Given the description of an element on the screen output the (x, y) to click on. 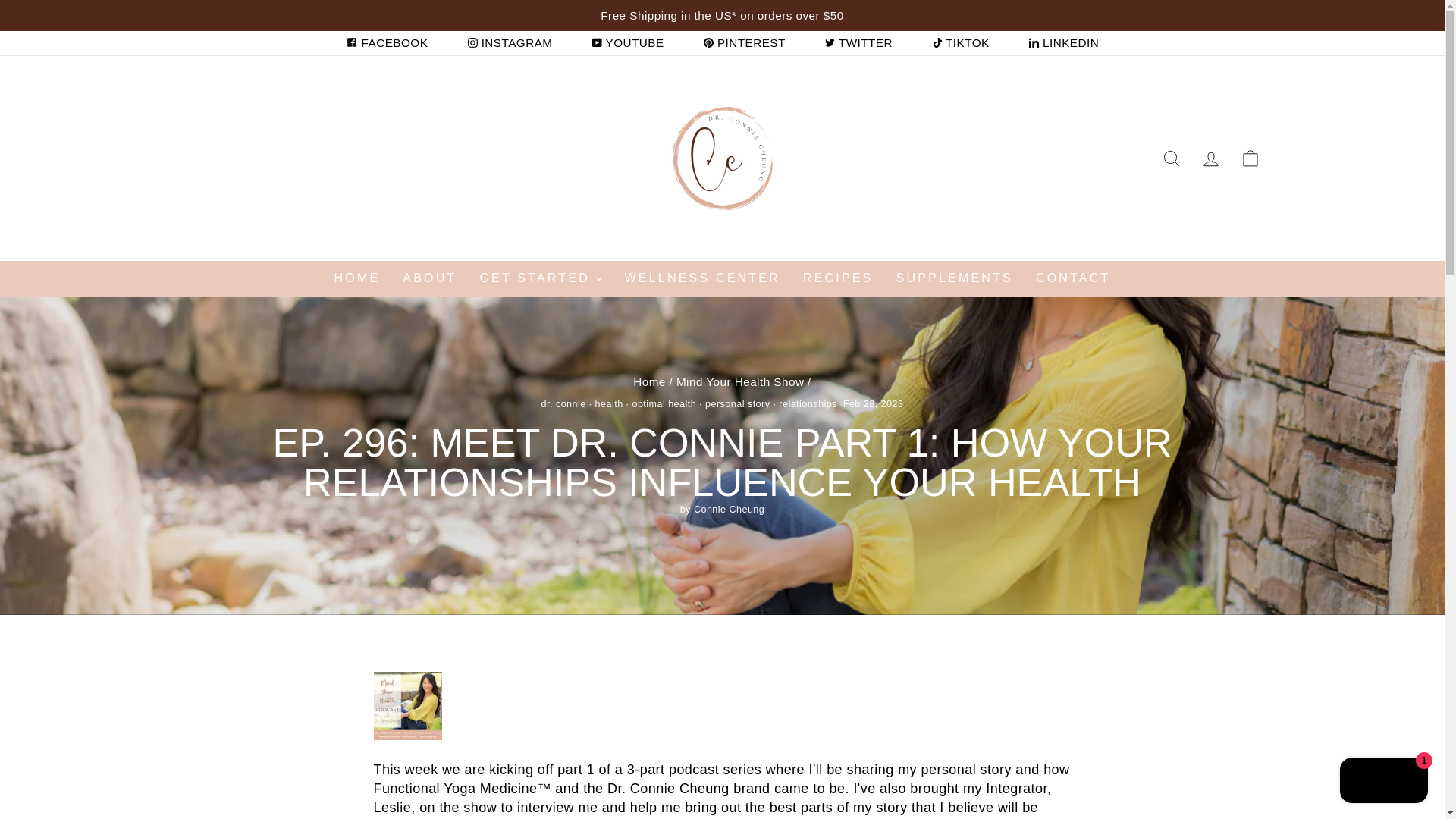
SEARCH (1171, 157)
Libsyn Player (721, 705)
FACEBOOK (386, 42)
TIKTOK (960, 42)
HOME (357, 278)
TWITTER (858, 42)
INSTAGRAM (510, 42)
LOG IN (1210, 157)
PINTEREST (744, 42)
YOUTUBE (628, 42)
LINKEDIN (1063, 42)
CART (1249, 157)
Back to the frontpage (649, 381)
